Given the description of an element on the screen output the (x, y) to click on. 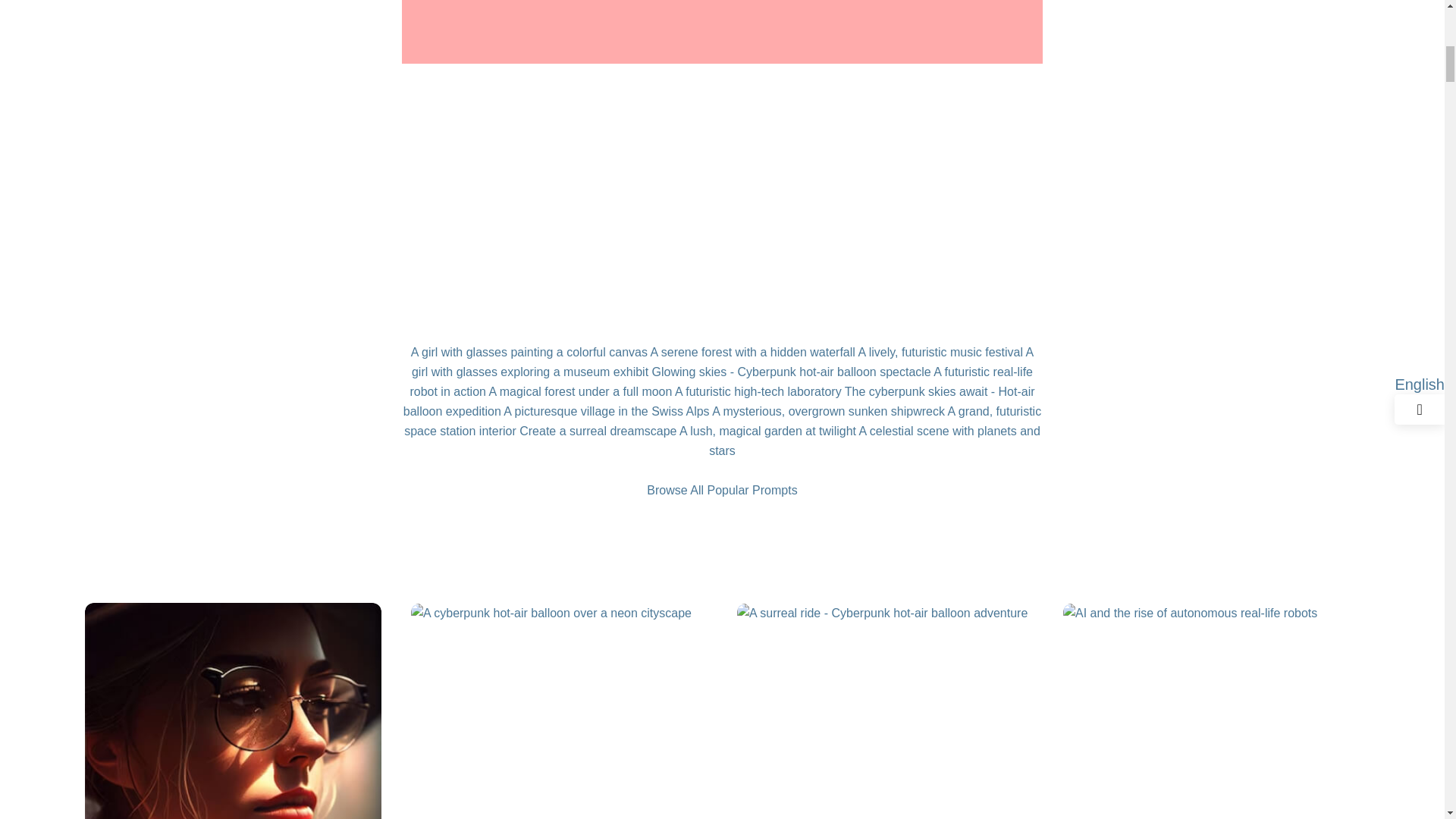
A futuristic high-tech laboratory (758, 391)
A lush, magical garden at twilight (767, 431)
A cyberpunk hot-air balloon over a neon cityscape (550, 612)
A girl with glasses exploring a museum exhibit (722, 361)
A thoughtful girl with glasses looking at the stars (232, 749)
A surreal ride - Cyberpunk hot-air balloon adventure (881, 612)
A lively, futuristic music festival (940, 351)
A mysterious, overgrown sunken shipwreck (827, 410)
A celestial scene with planets and stars (875, 441)
A picturesque village in the Swiss Alps (606, 410)
